Given the description of an element on the screen output the (x, y) to click on. 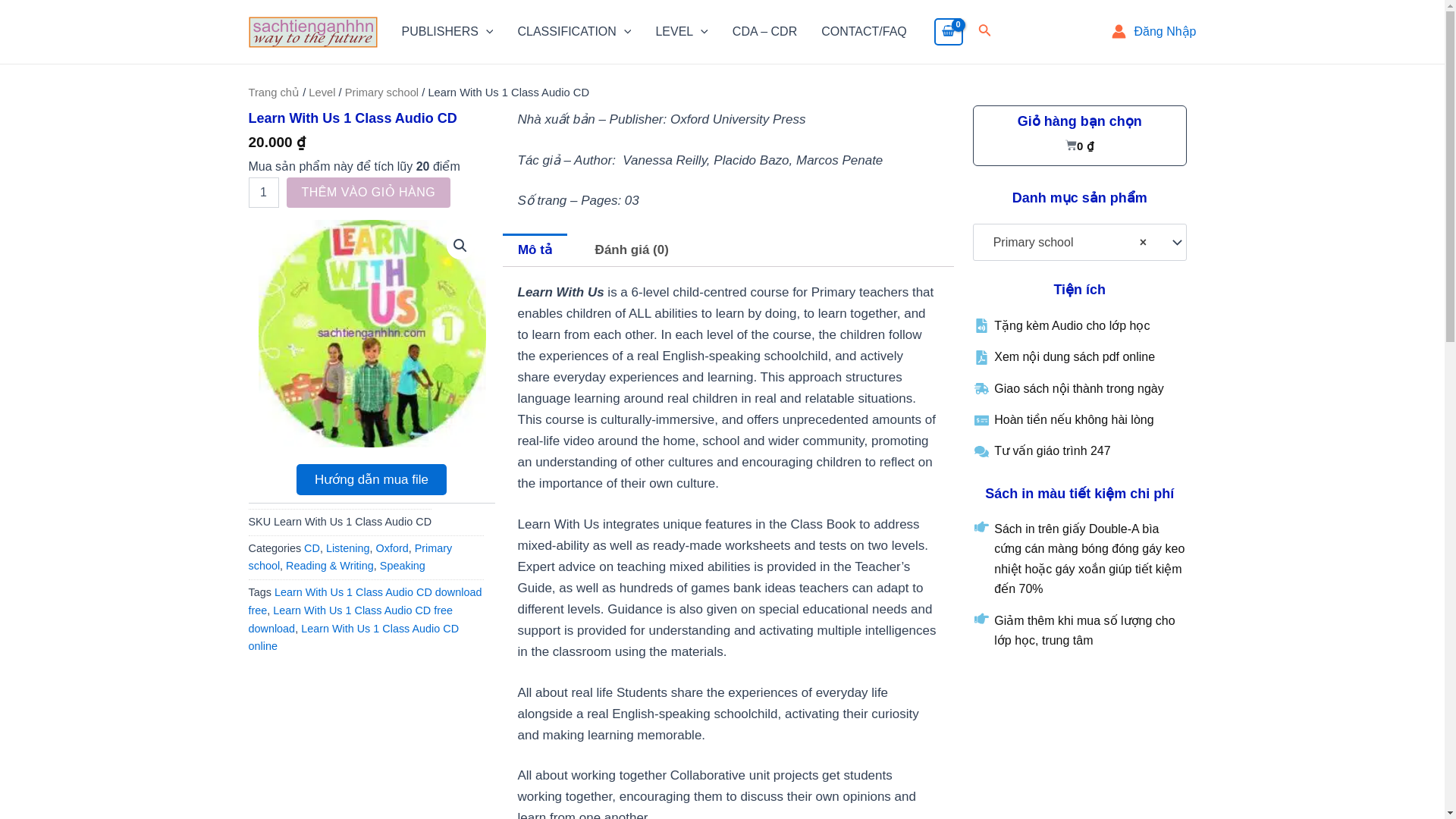
LEVEL (681, 31)
PUBLISHERS (447, 31)
Call 0945 375 808 (863, 31)
CLASSIFICATION (574, 31)
1 (263, 192)
English book classification  (574, 31)
